Given the description of an element on the screen output the (x, y) to click on. 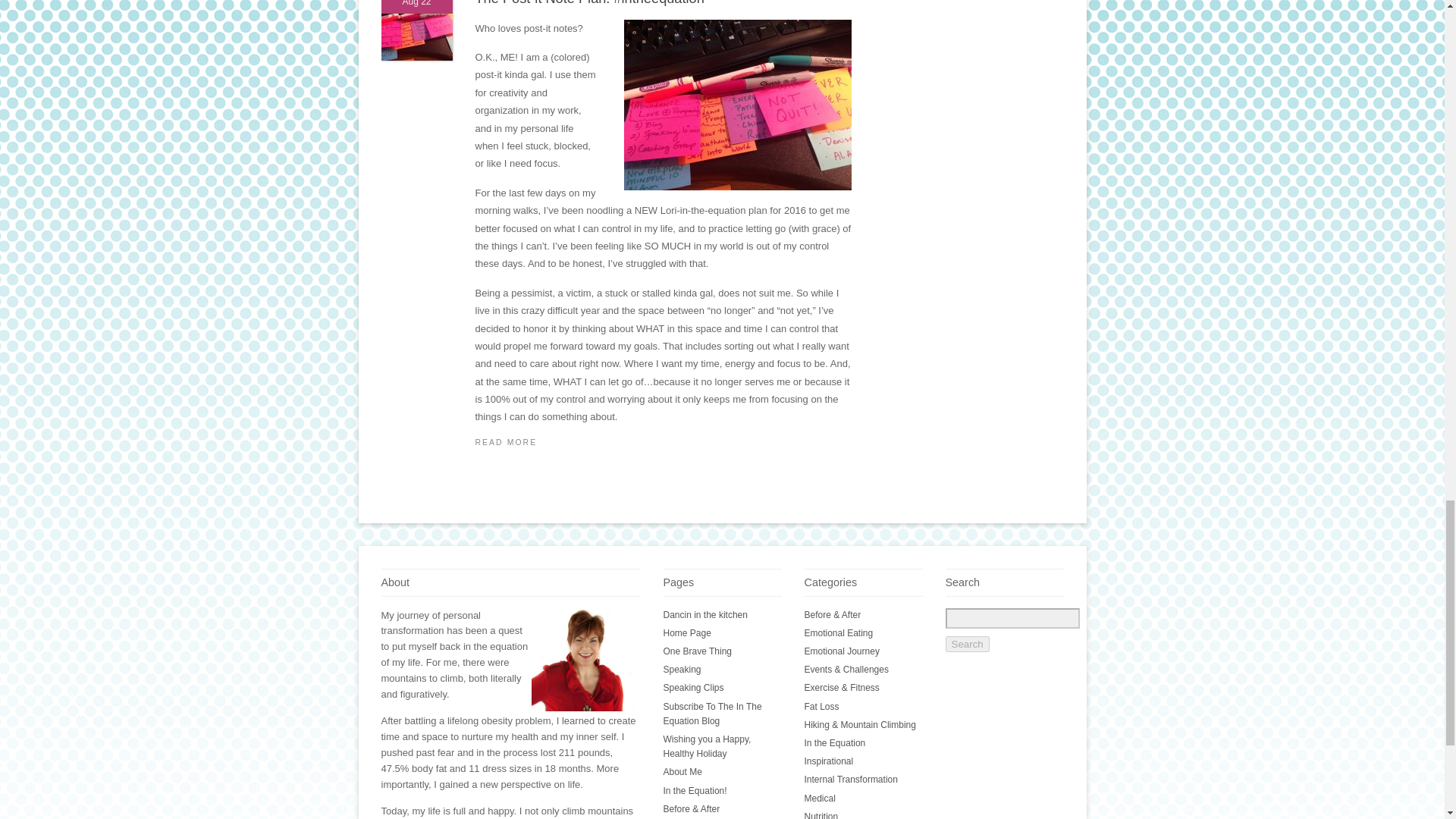
READ MORE (662, 442)
Search (966, 643)
Feb. 2012 -  Balance For Life 024-5 (585, 659)
